Given the description of an element on the screen output the (x, y) to click on. 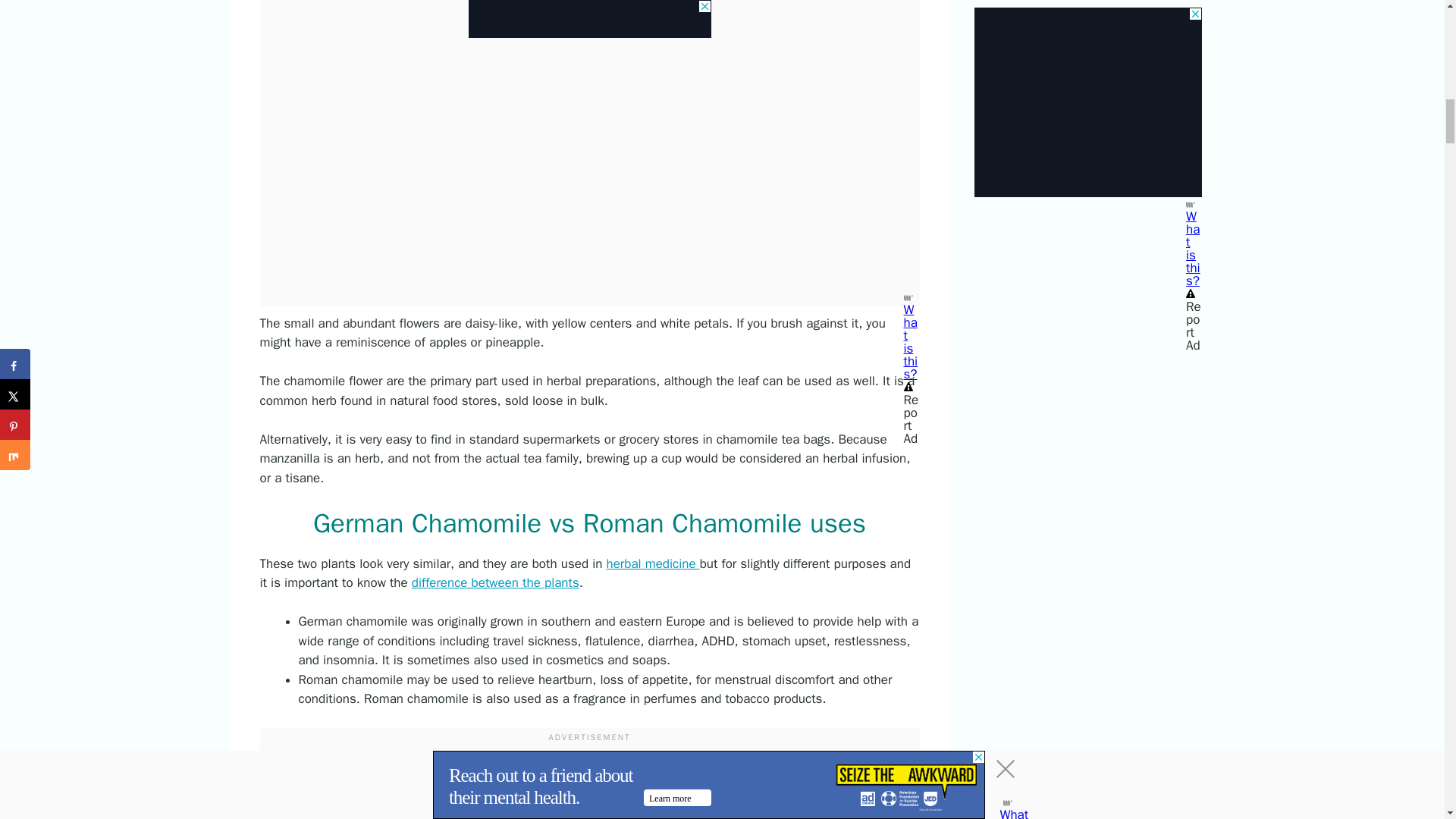
3rd party ad content (590, 787)
